Given the description of an element on the screen output the (x, y) to click on. 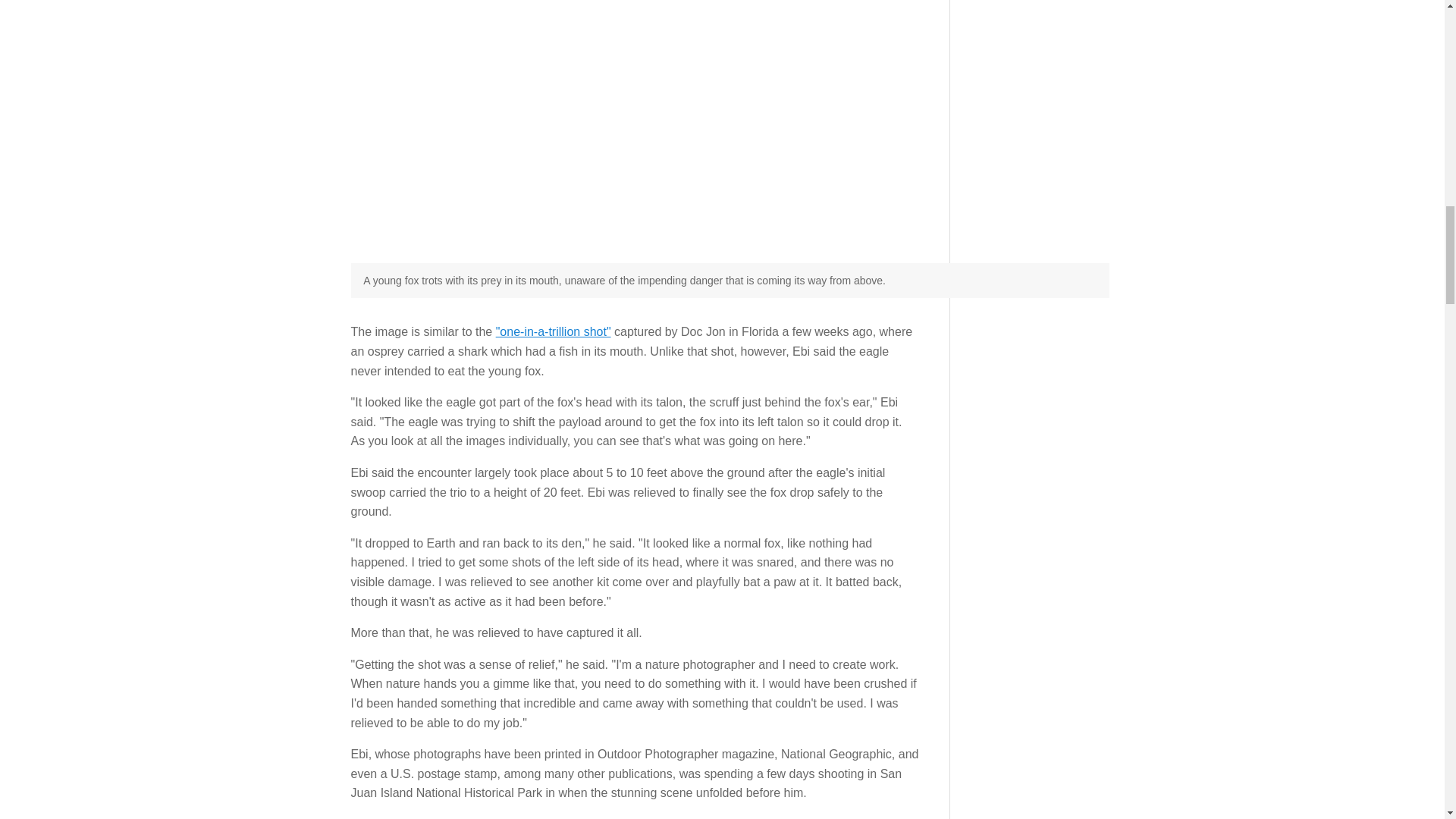
"one-in-a-trillion shot" (553, 331)
